Given the description of an element on the screen output the (x, y) to click on. 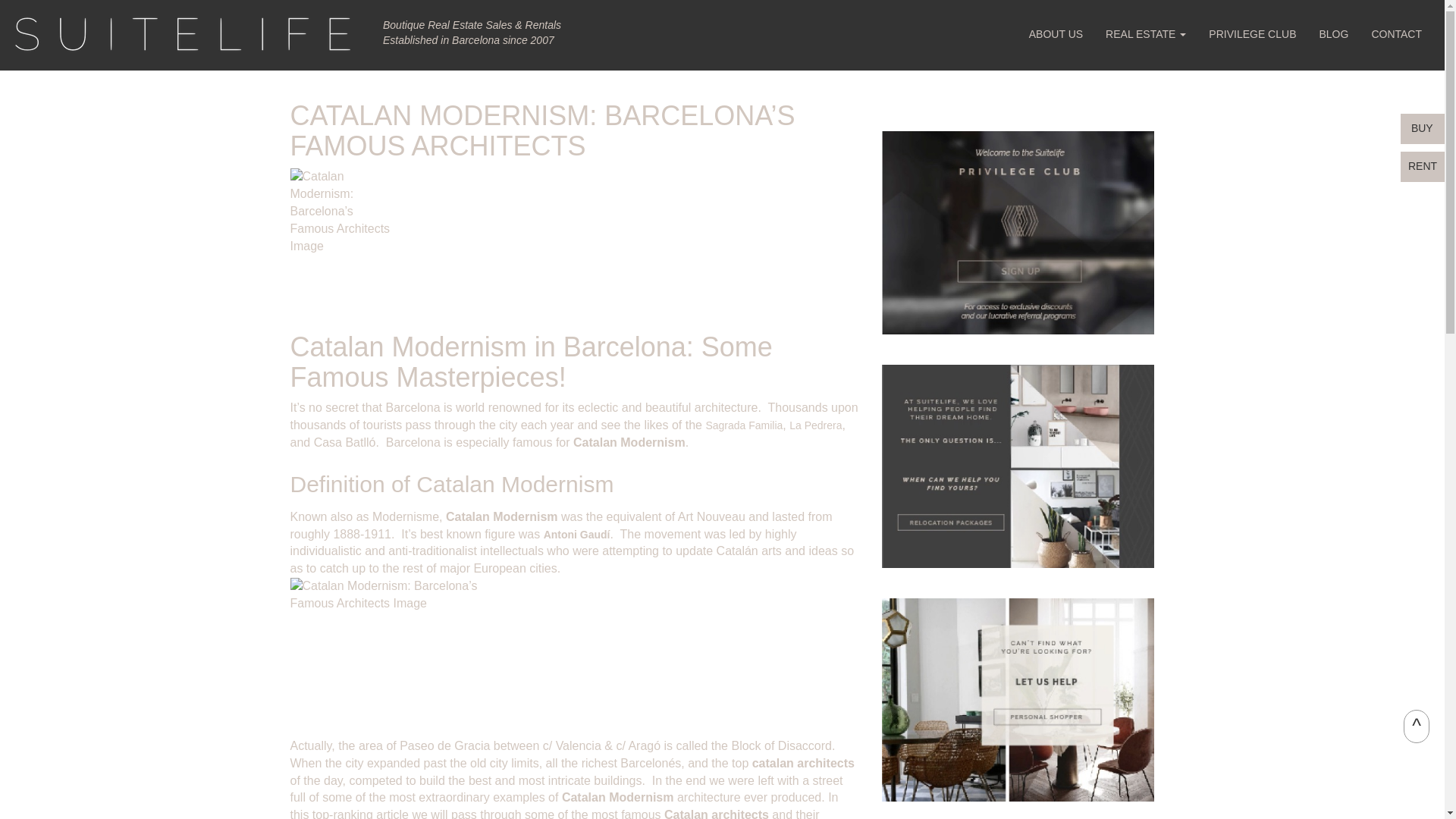
BLOG (1333, 34)
PRIVILEGE CLUB (1251, 34)
PRIVILEGE CLUB (1251, 34)
REAL ESTATE (1145, 34)
RENT   (1424, 165)
 BUY (1419, 128)
BLOG (1333, 34)
Sagrada Familia (743, 425)
REAL ESTATE (1145, 34)
CONTACT (1395, 34)
ABOUT US (1055, 34)
La Pedrera (815, 425)
ABOUT US (1055, 34)
CONTACT (1395, 34)
